Given the description of an element on the screen output the (x, y) to click on. 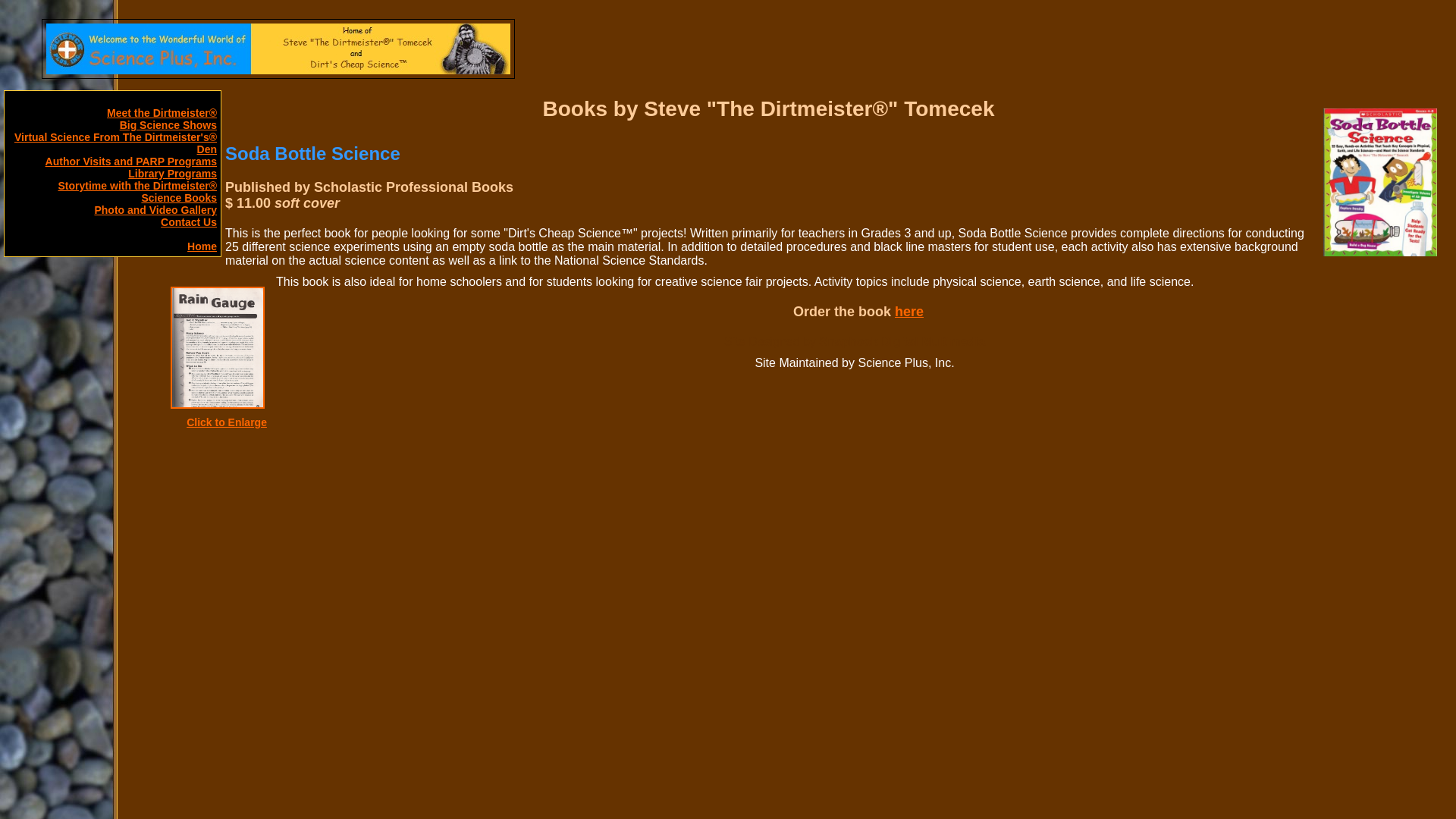
Science Books (178, 197)
Library Programs (172, 173)
Contact Us (188, 222)
Home (201, 246)
Photo and Video Gallery (155, 209)
Author Visits and PARP Programs (130, 161)
Click to enlarge (226, 421)
Click to Enlarge (226, 421)
here (909, 310)
Big Science Shows (167, 124)
Snaphook Digital Multimedia (901, 341)
